Given the description of an element on the screen output the (x, y) to click on. 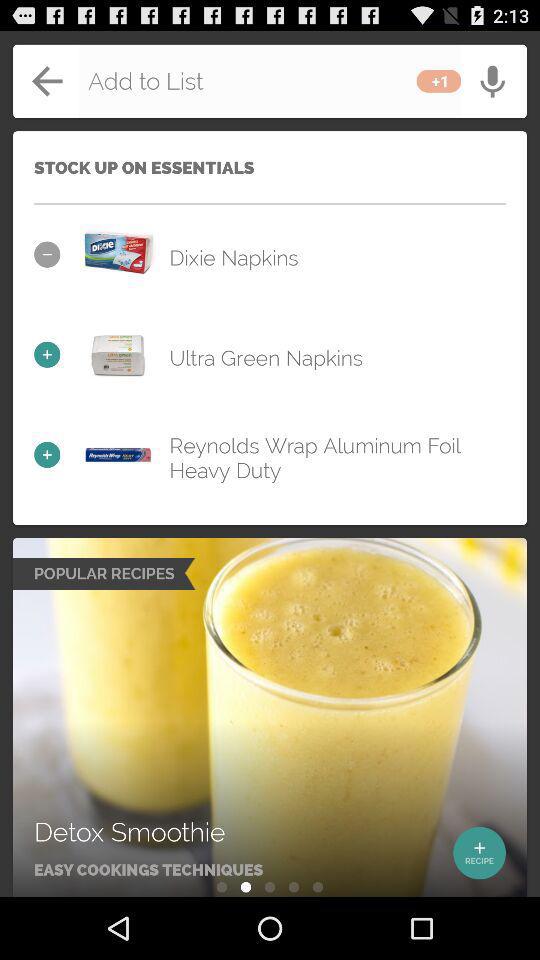
add to list (269, 81)
